Given the description of an element on the screen output the (x, y) to click on. 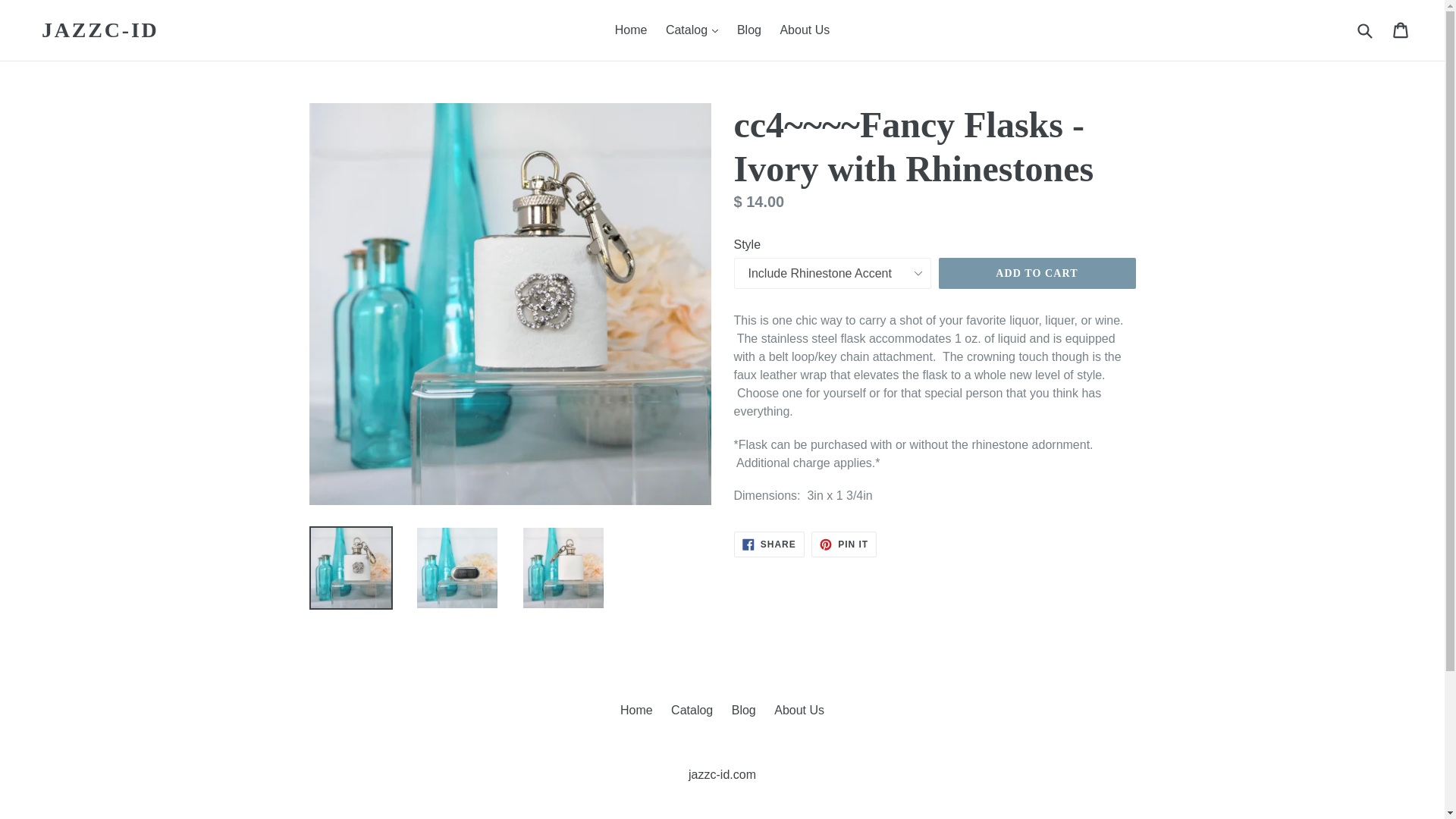
jazzc-id.com (721, 774)
Pin on Pinterest (843, 544)
ADD TO CART (843, 544)
Home (1037, 273)
Catalog (631, 29)
JAZZC-ID (769, 544)
About Us (692, 709)
Blog (100, 30)
